Given the description of an element on the screen output the (x, y) to click on. 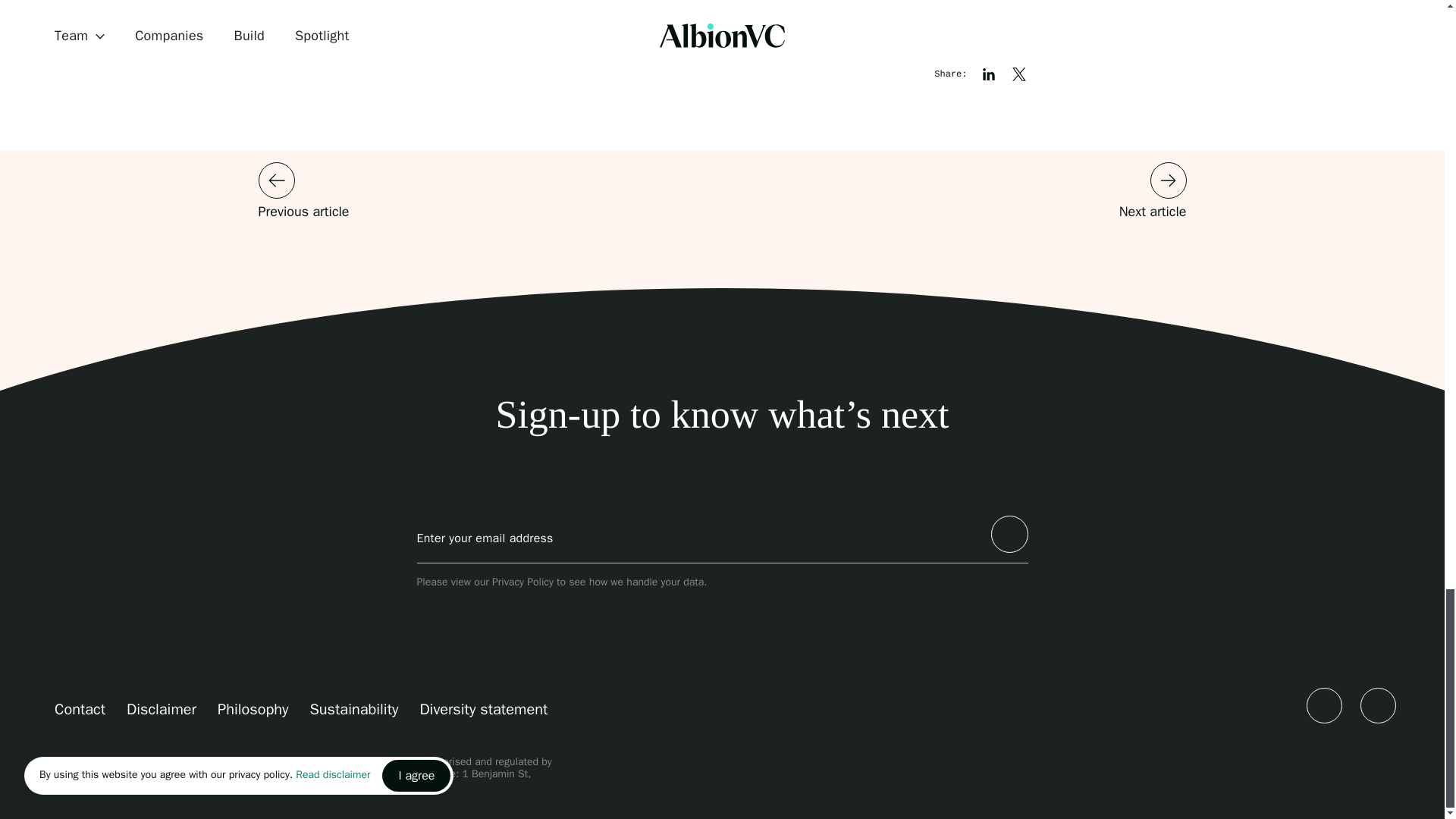
Submit (1008, 533)
LinkedIn (1324, 704)
Submit (1008, 533)
Diversity statement (483, 708)
Philosophy (252, 708)
Privacy Policy (522, 582)
Share (1018, 74)
Disclaimer (161, 708)
Contact (79, 708)
